Given the description of an element on the screen output the (x, y) to click on. 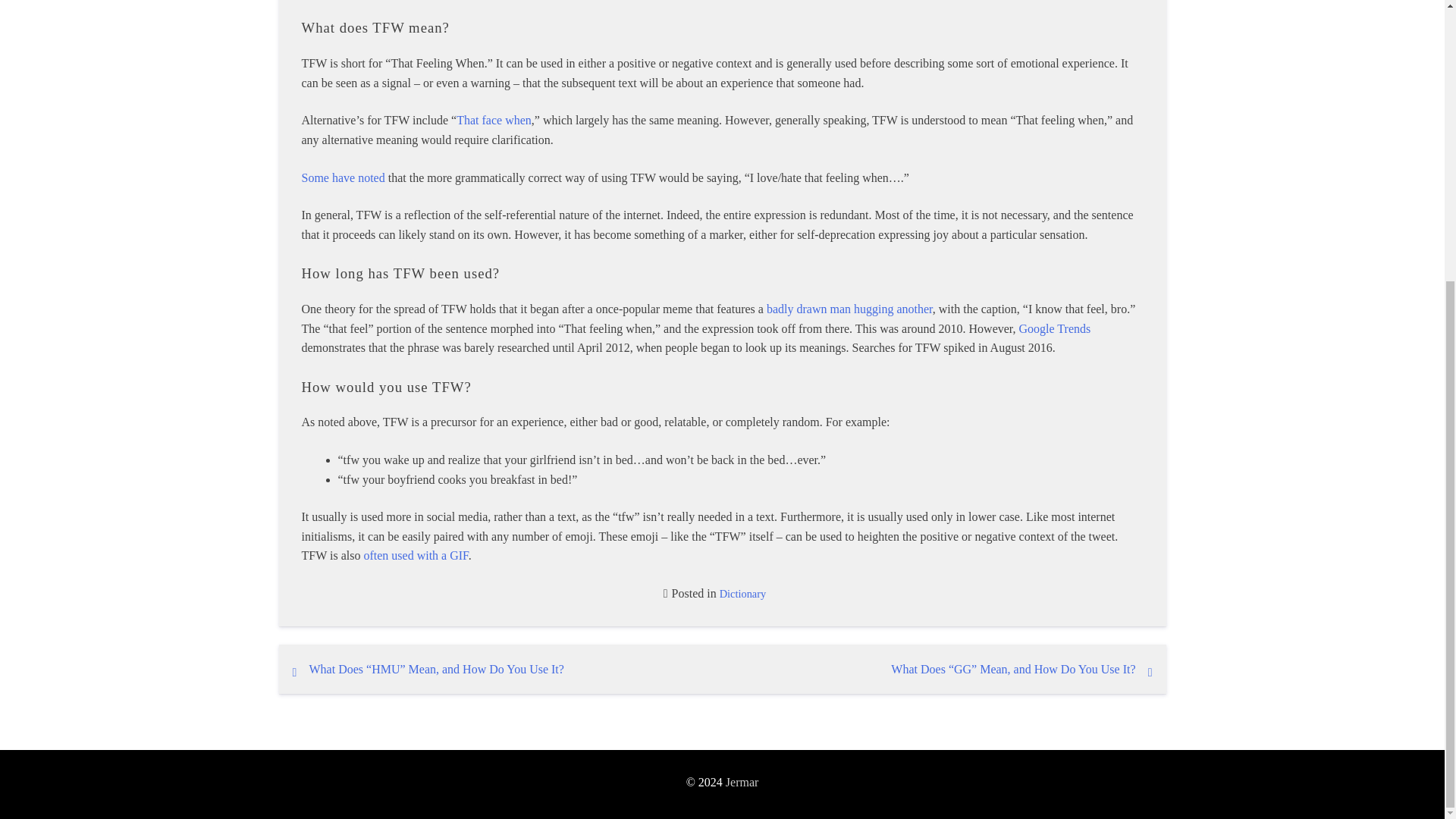
often used with a GIF (414, 554)
Dictionary (743, 593)
Some have noted (343, 176)
Google Trends (1054, 328)
badly drawn man hugging another (850, 308)
That face when (494, 119)
Jermar (741, 782)
